Given the description of an element on the screen output the (x, y) to click on. 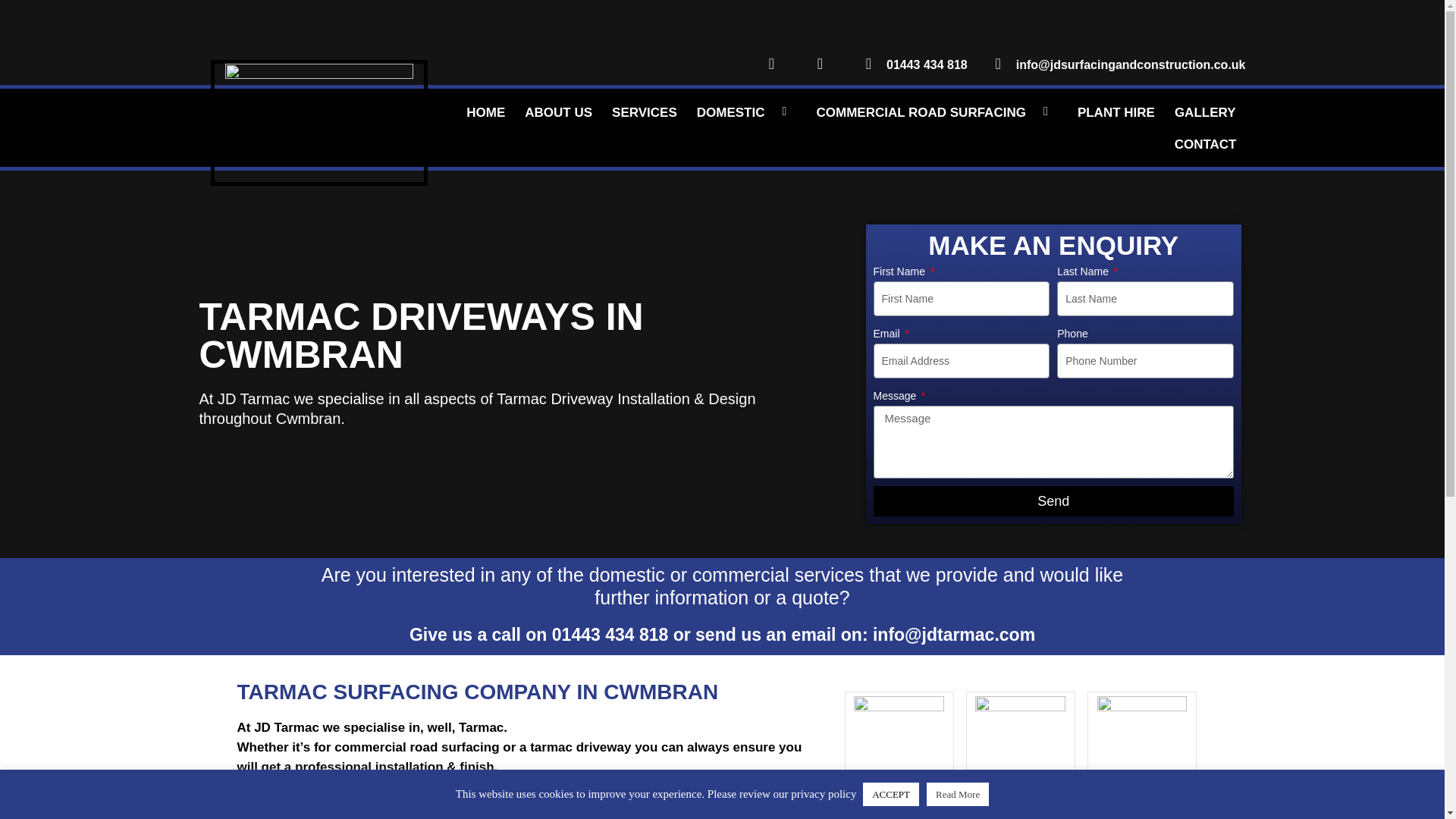
DOMESTIC (746, 112)
HOME (485, 112)
COMMERCIAL ROAD SURFACING (935, 112)
ABOUT US (558, 112)
CONTACT (1206, 143)
PLANT HIRE (1115, 112)
GALLERY (1205, 112)
SERVICES (643, 112)
01443 434 818 (913, 64)
